Given the description of an element on the screen output the (x, y) to click on. 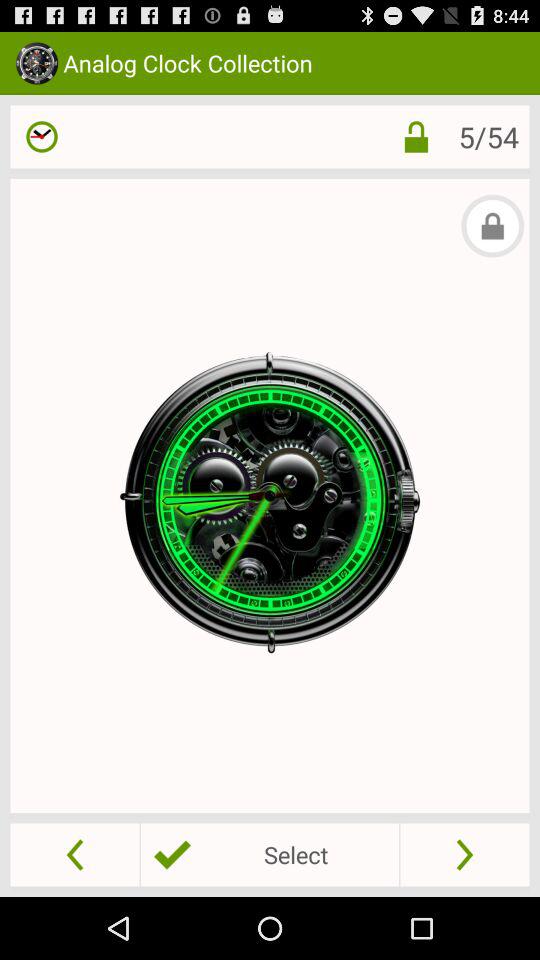
jump to the select item (269, 854)
